Given the description of an element on the screen output the (x, y) to click on. 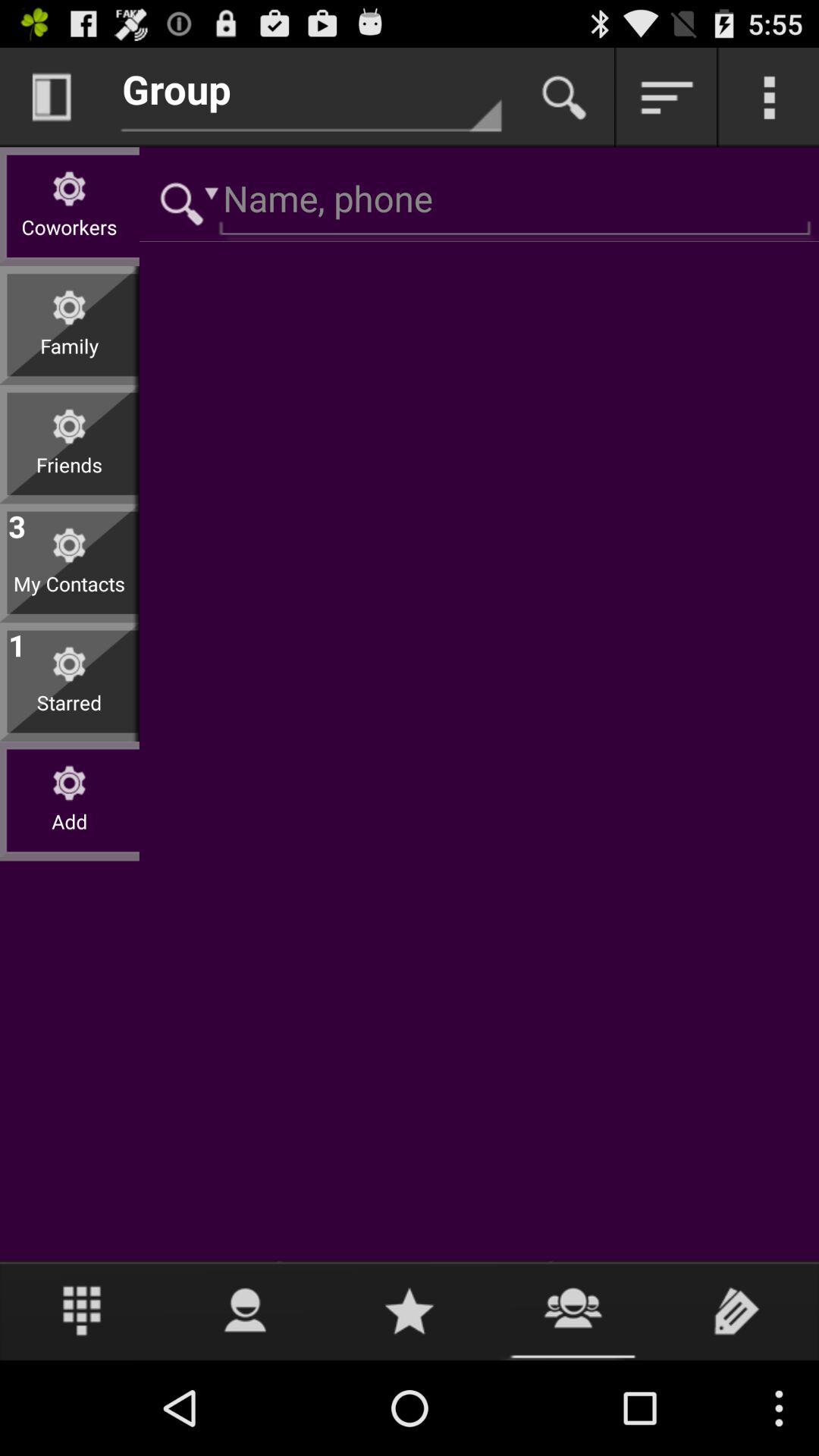
order by highest first (666, 97)
